Given the description of an element on the screen output the (x, y) to click on. 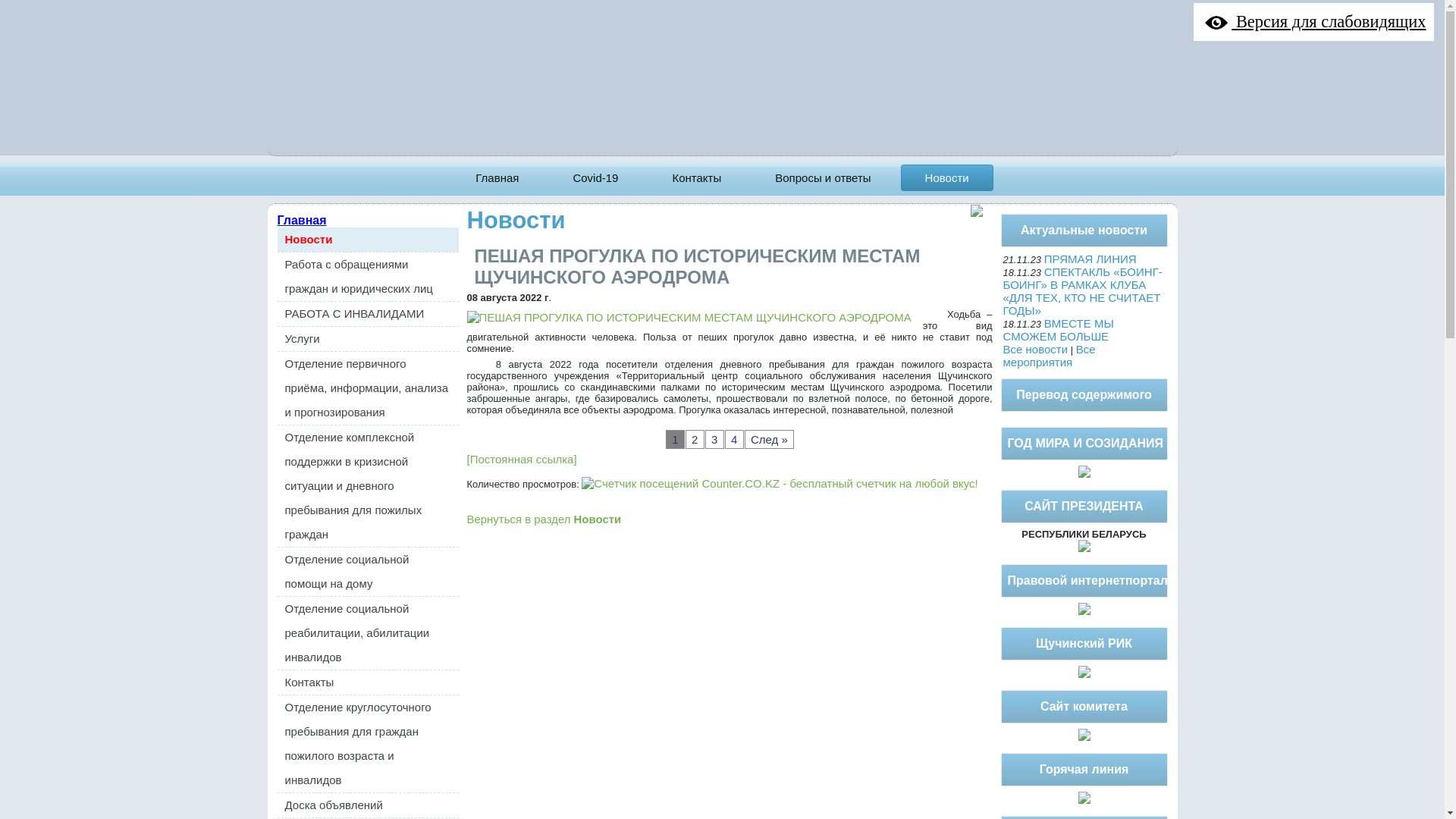
4 Element type: text (733, 438)
Covid-19 Element type: text (595, 177)
1 Element type: text (674, 438)
3 Element type: text (714, 438)
2 Element type: text (694, 438)
